Given the description of an element on the screen output the (x, y) to click on. 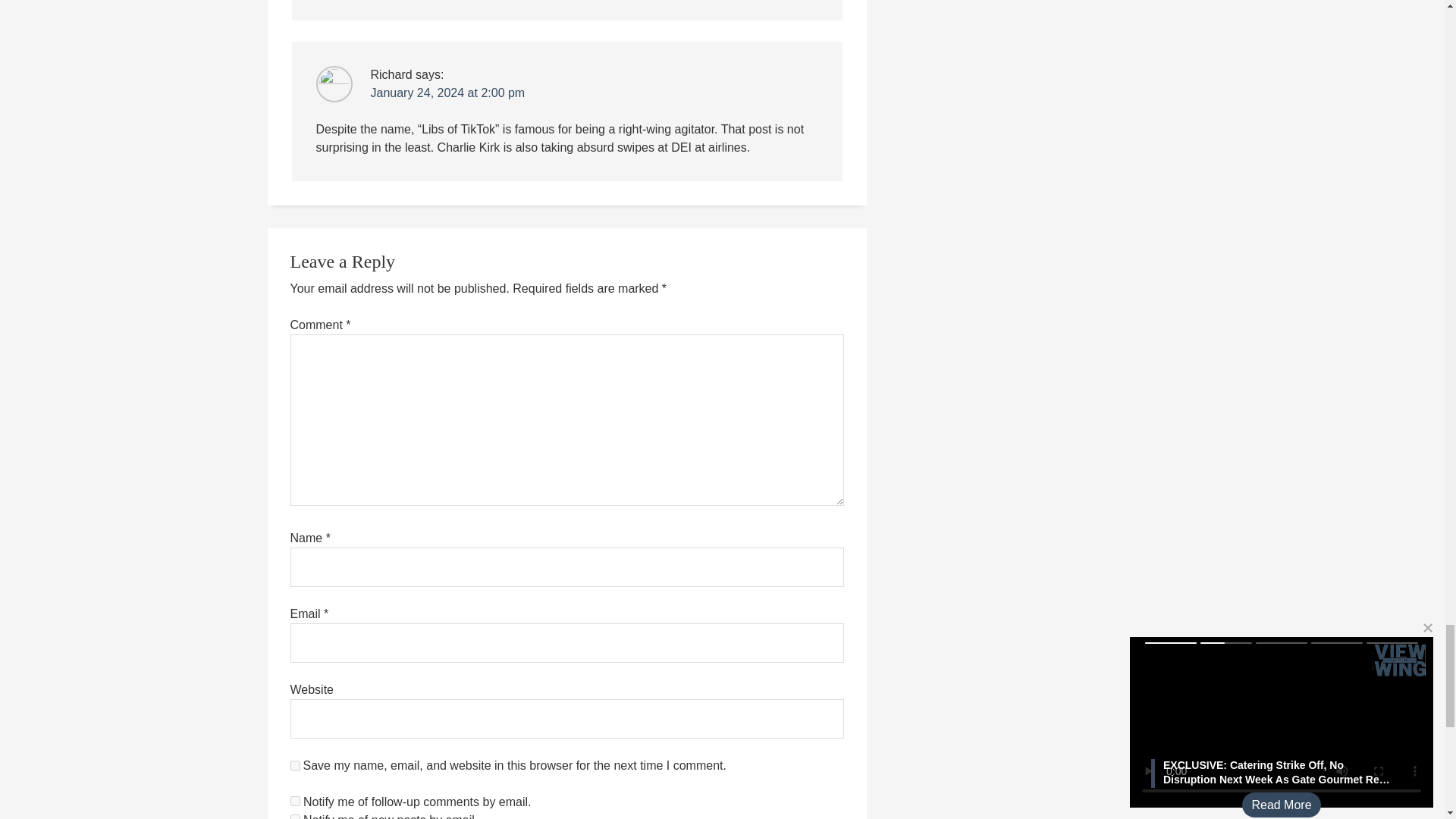
subscribe (294, 800)
subscribe (294, 816)
